Given the description of an element on the screen output the (x, y) to click on. 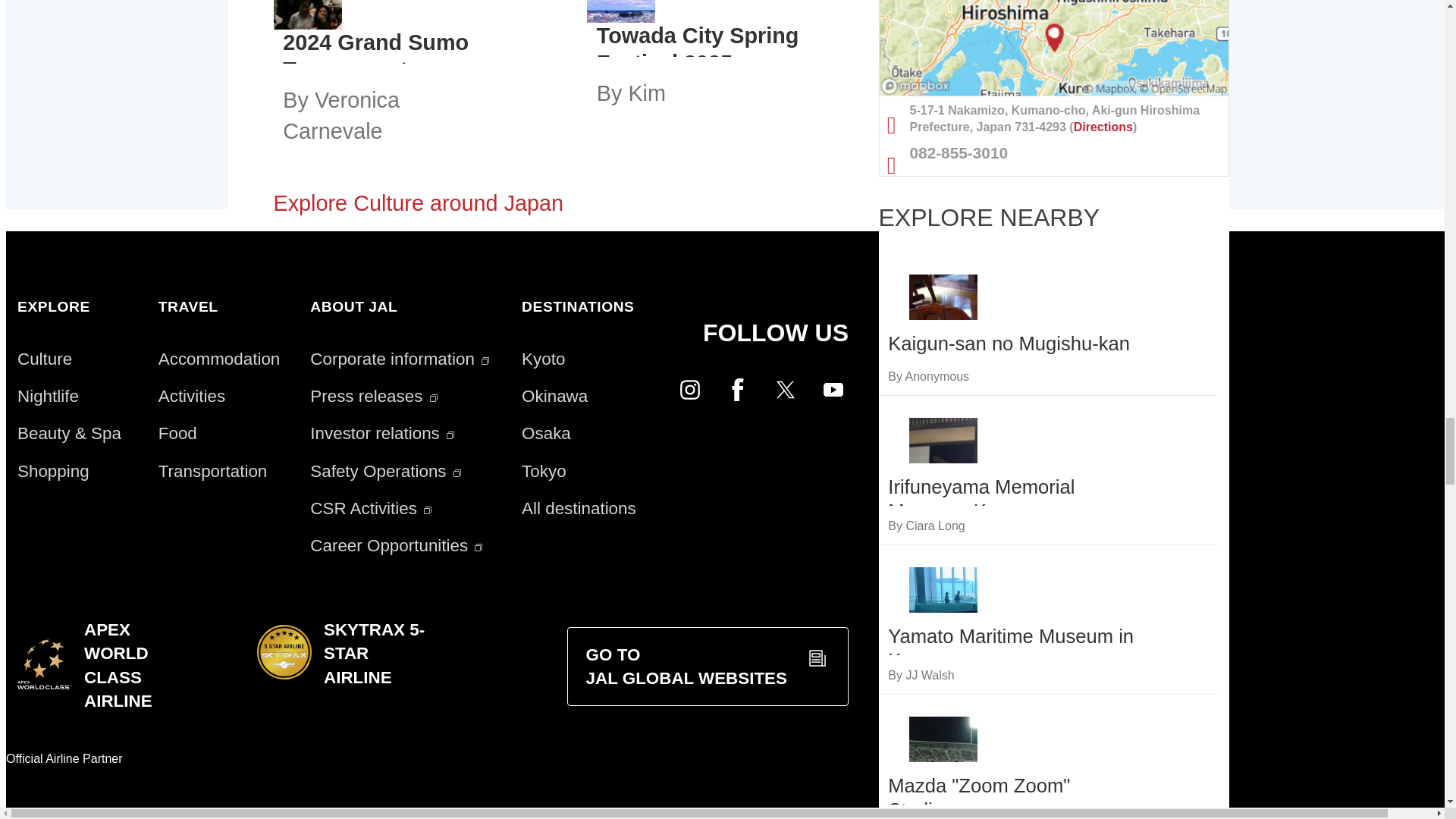
Phone number (1053, 152)
Address (1053, 119)
